Given the description of an element on the screen output the (x, y) to click on. 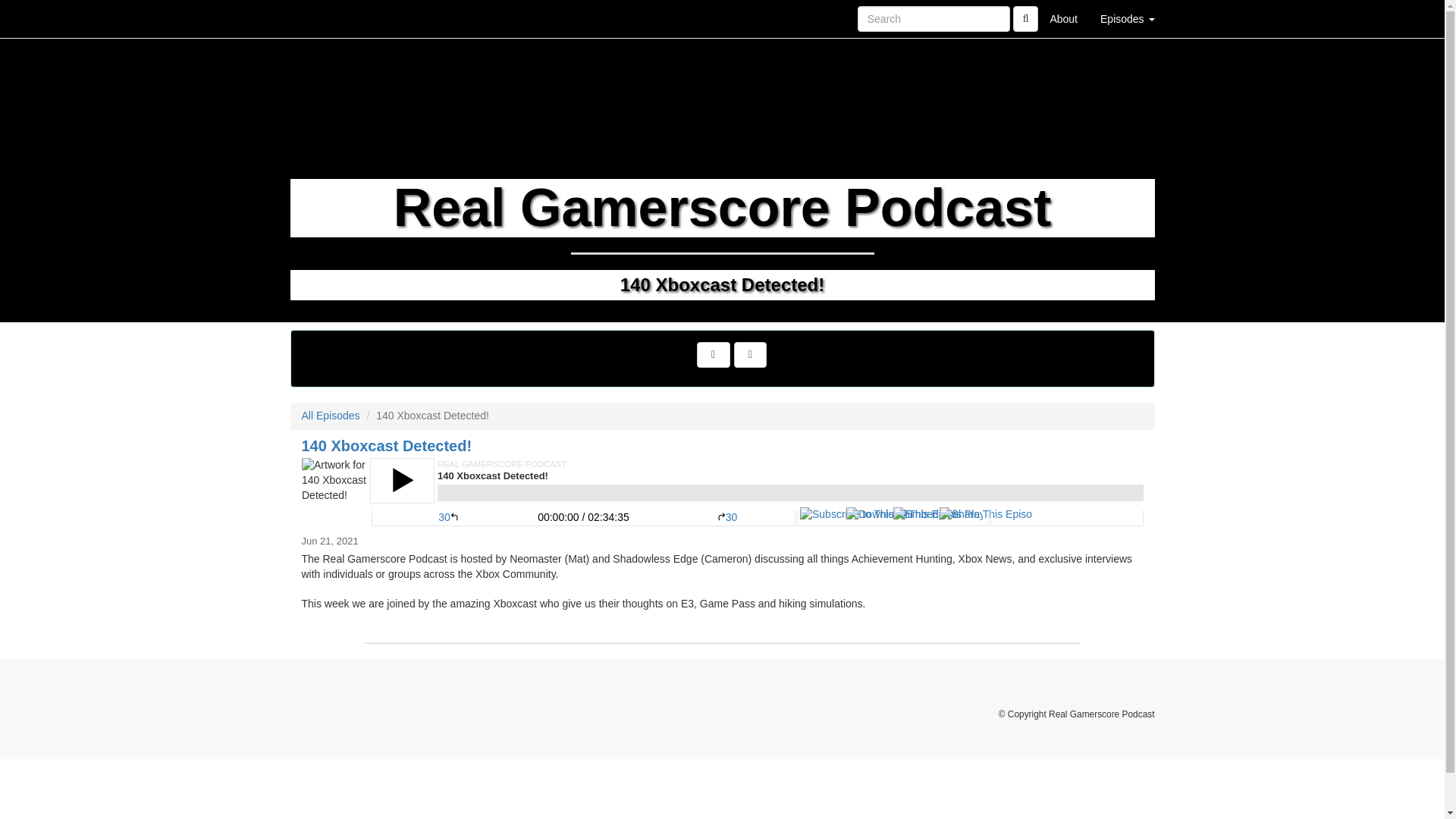
Episodes (1127, 18)
Home Page (320, 18)
About (1063, 18)
140 Xboxcast Detected! (721, 491)
